Given the description of an element on the screen output the (x, y) to click on. 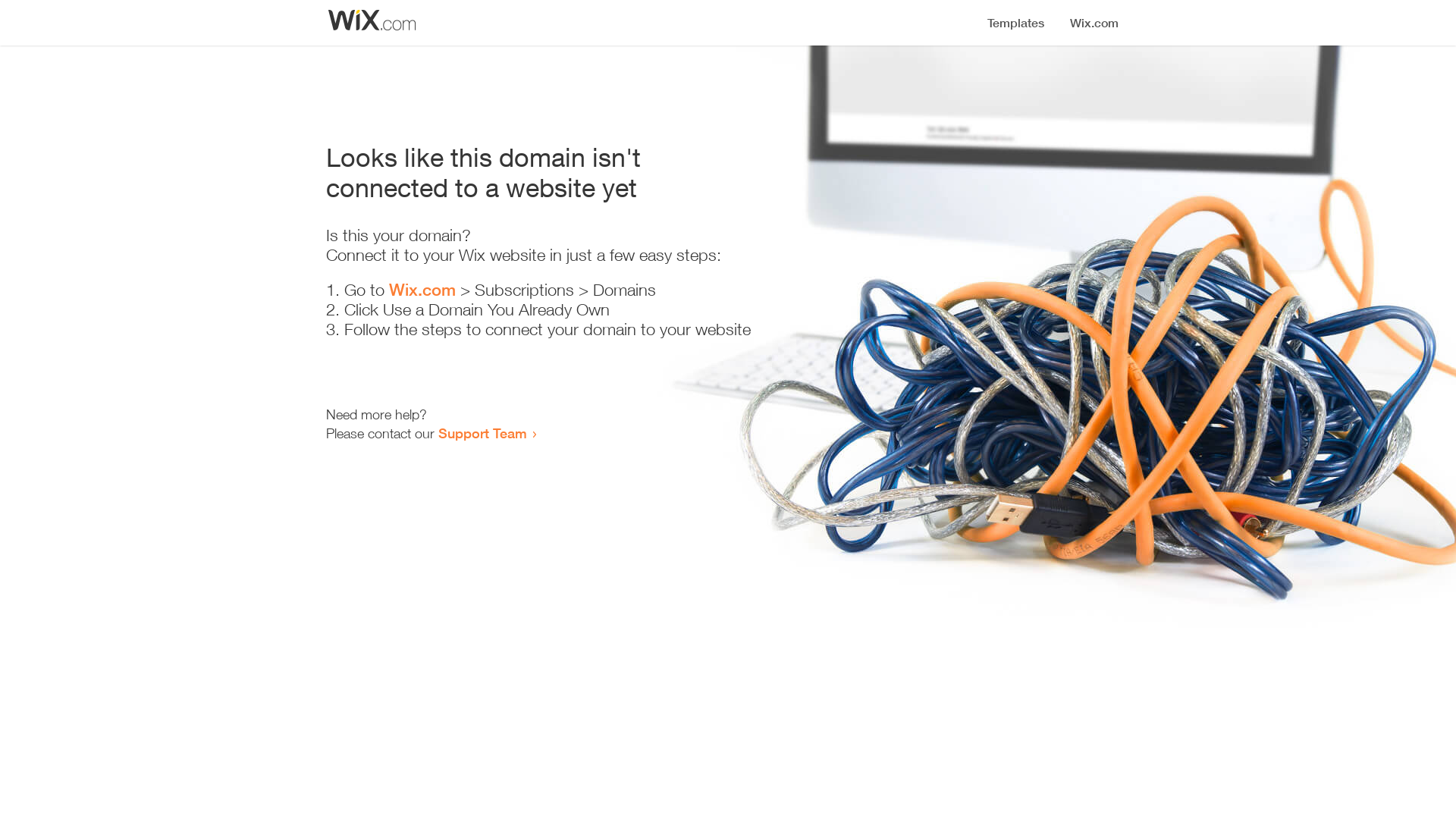
Wix.com Element type: text (422, 289)
Support Team Element type: text (482, 432)
